Given the description of an element on the screen output the (x, y) to click on. 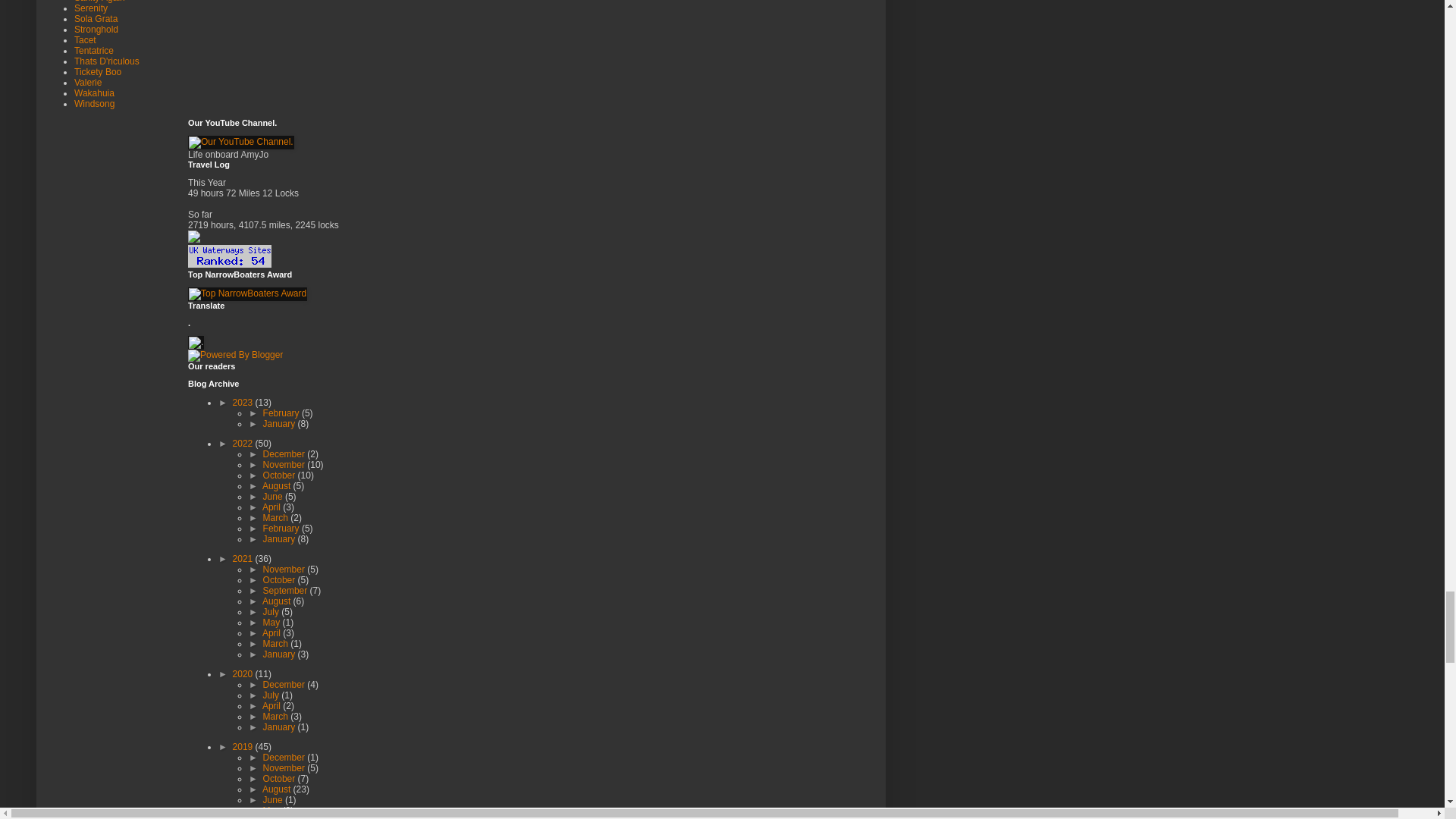
Water Explorer (193, 239)
